Given the description of an element on the screen output the (x, y) to click on. 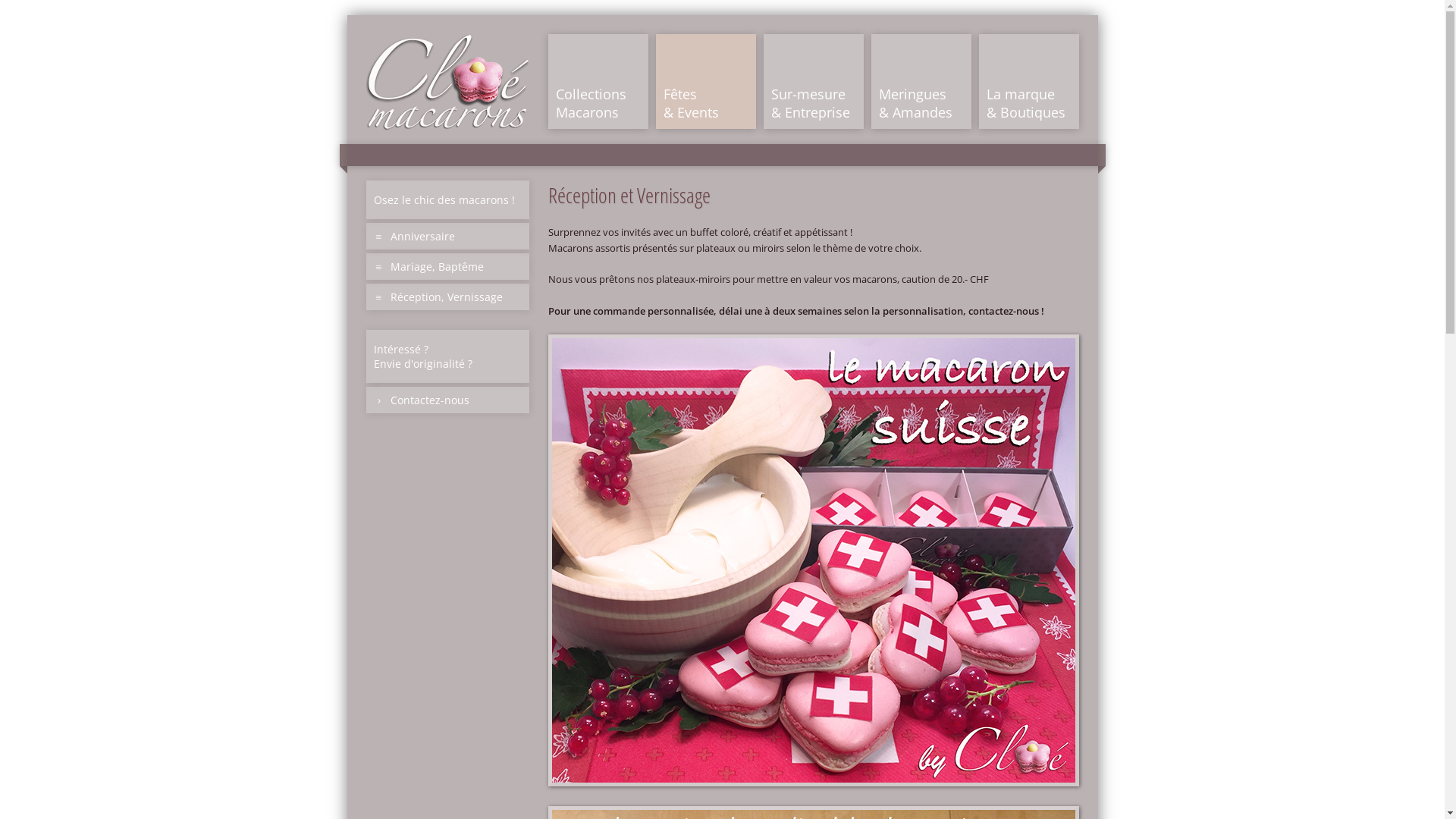
Collections
Macarons Element type: text (597, 81)
La marque
& Boutiques Element type: text (1028, 81)
Sur-mesure
& Entreprise Element type: text (812, 81)
Contactez-nous Element type: text (446, 399)
Anniversaire Element type: text (446, 235)
Meringues
& Amandes Element type: text (920, 81)
